Given the description of an element on the screen output the (x, y) to click on. 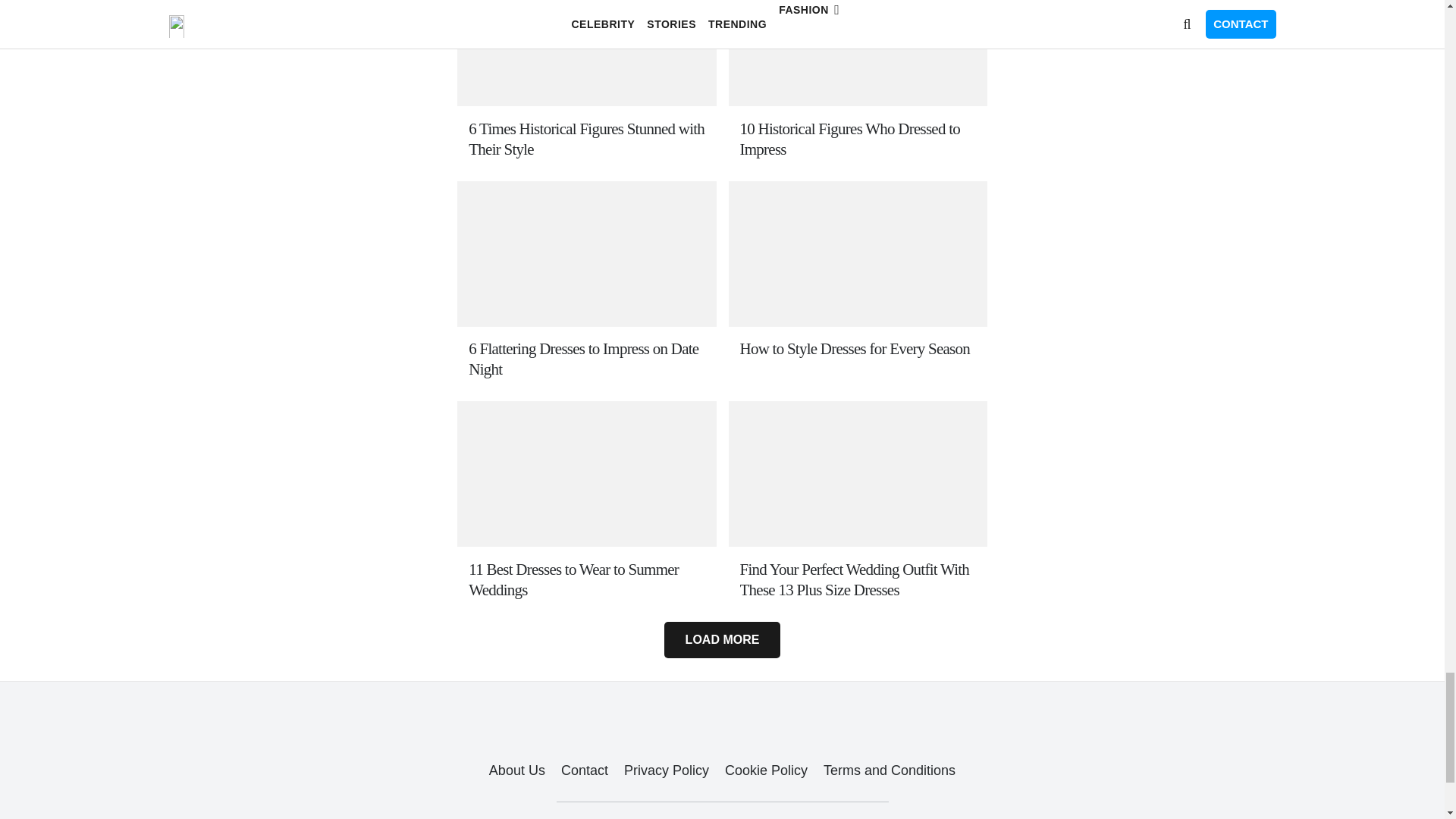
LOAD MORE (720, 639)
Privacy Policy (666, 770)
Contact (584, 770)
Cookie Policy (766, 770)
About Us (516, 770)
Terms and Conditions (889, 770)
6 Flattering Dresses to Impress on Date Night (586, 359)
10 Historical Figures Who Dressed to Impress (857, 138)
How to Style Dresses for Every Season (857, 349)
11 Best Dresses to Wear to Summer Weddings (586, 579)
6 Times Historical Figures Stunned with Their Style (586, 138)
